Given the description of an element on the screen output the (x, y) to click on. 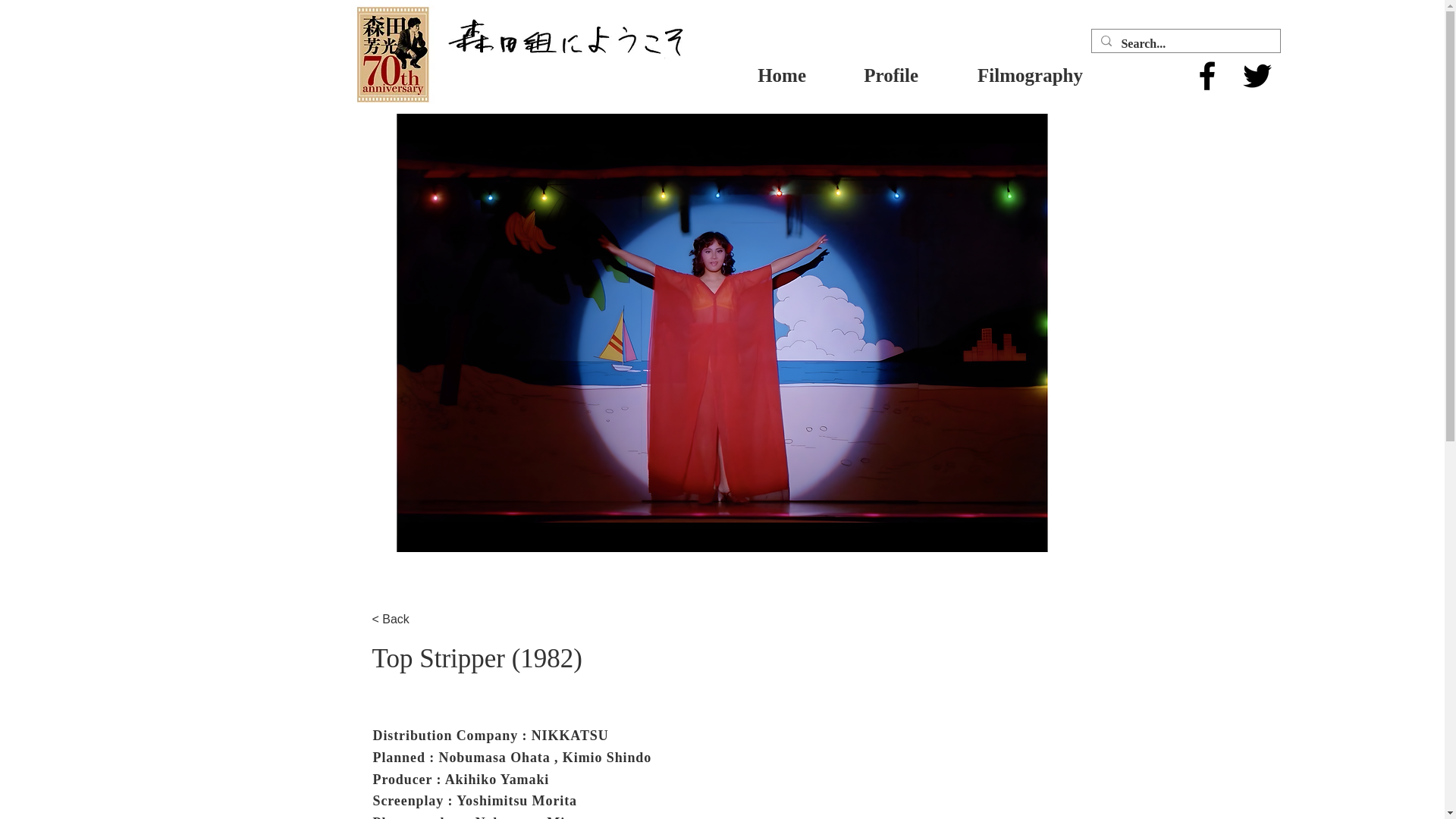
Filmography (1012, 75)
Profile (873, 75)
Home (763, 75)
